Given the description of an element on the screen output the (x, y) to click on. 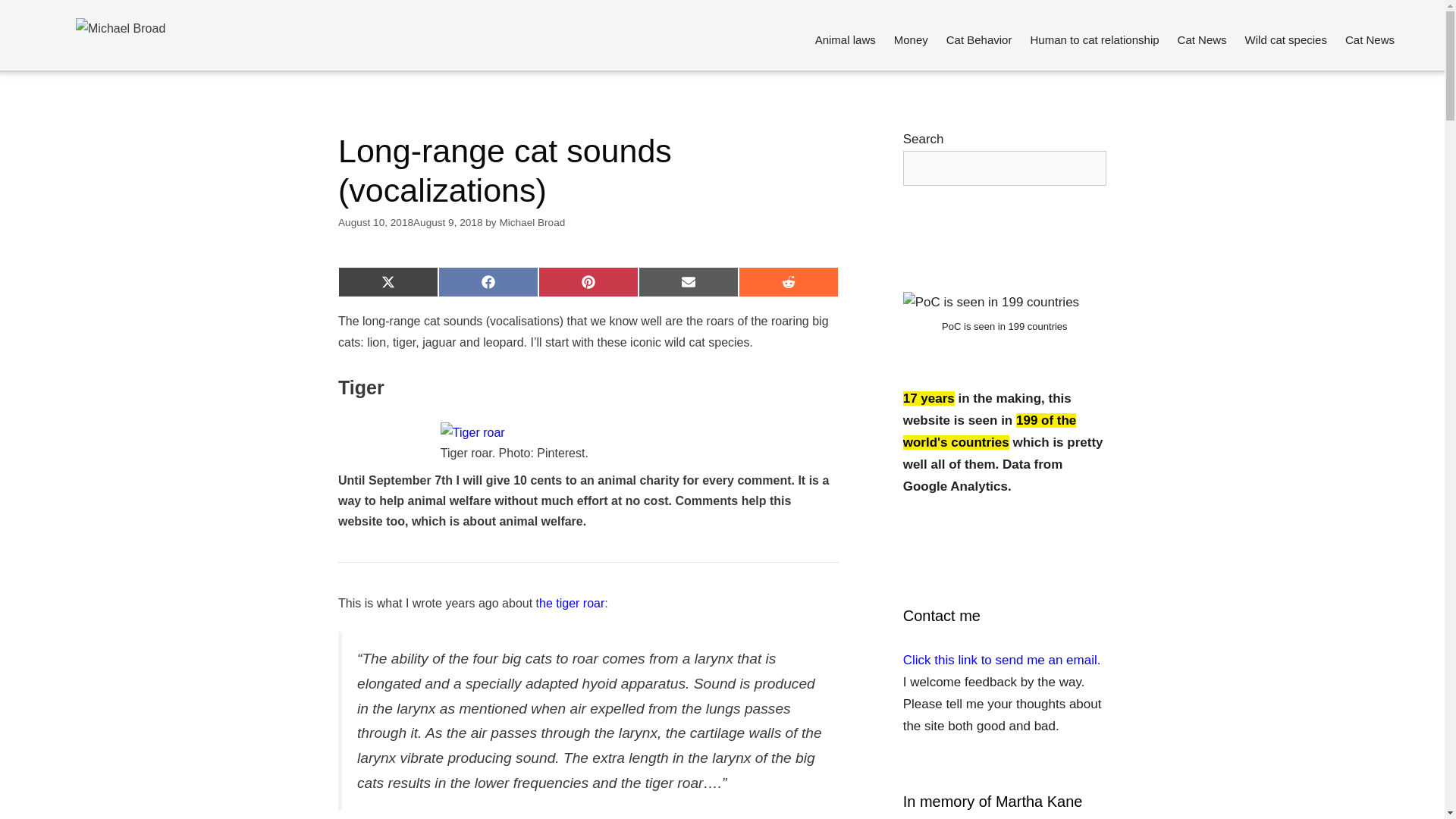
Share on Facebook (488, 281)
Share on Email (688, 281)
Money (911, 40)
Wild cat species (1286, 40)
Share on Reddit (788, 281)
Cat News (1202, 40)
Human to cat relationship (1093, 40)
Animal laws (845, 40)
he tiger roar (571, 603)
Cat News (1369, 40)
Cat Behavior (979, 40)
Michael Broad (531, 222)
Share on Pinterest (588, 281)
View all posts by Michael Broad (531, 222)
